Given the description of an element on the screen output the (x, y) to click on. 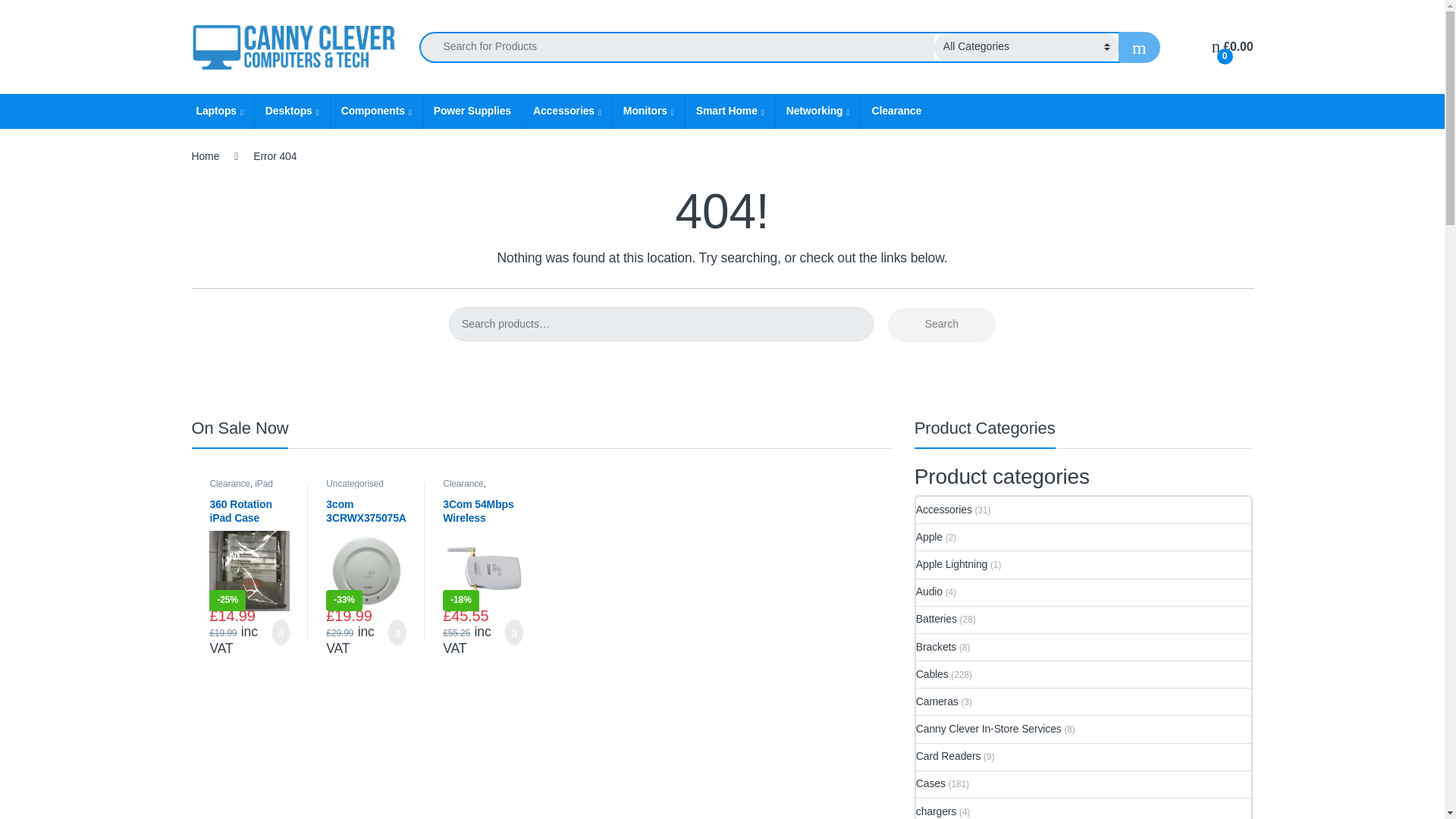
Desktops (291, 111)
Components (376, 111)
Laptops (218, 111)
Desktops (291, 111)
Components (376, 111)
Accessories (566, 111)
Power Supplies (471, 111)
Laptops (218, 111)
